Given the description of an element on the screen output the (x, y) to click on. 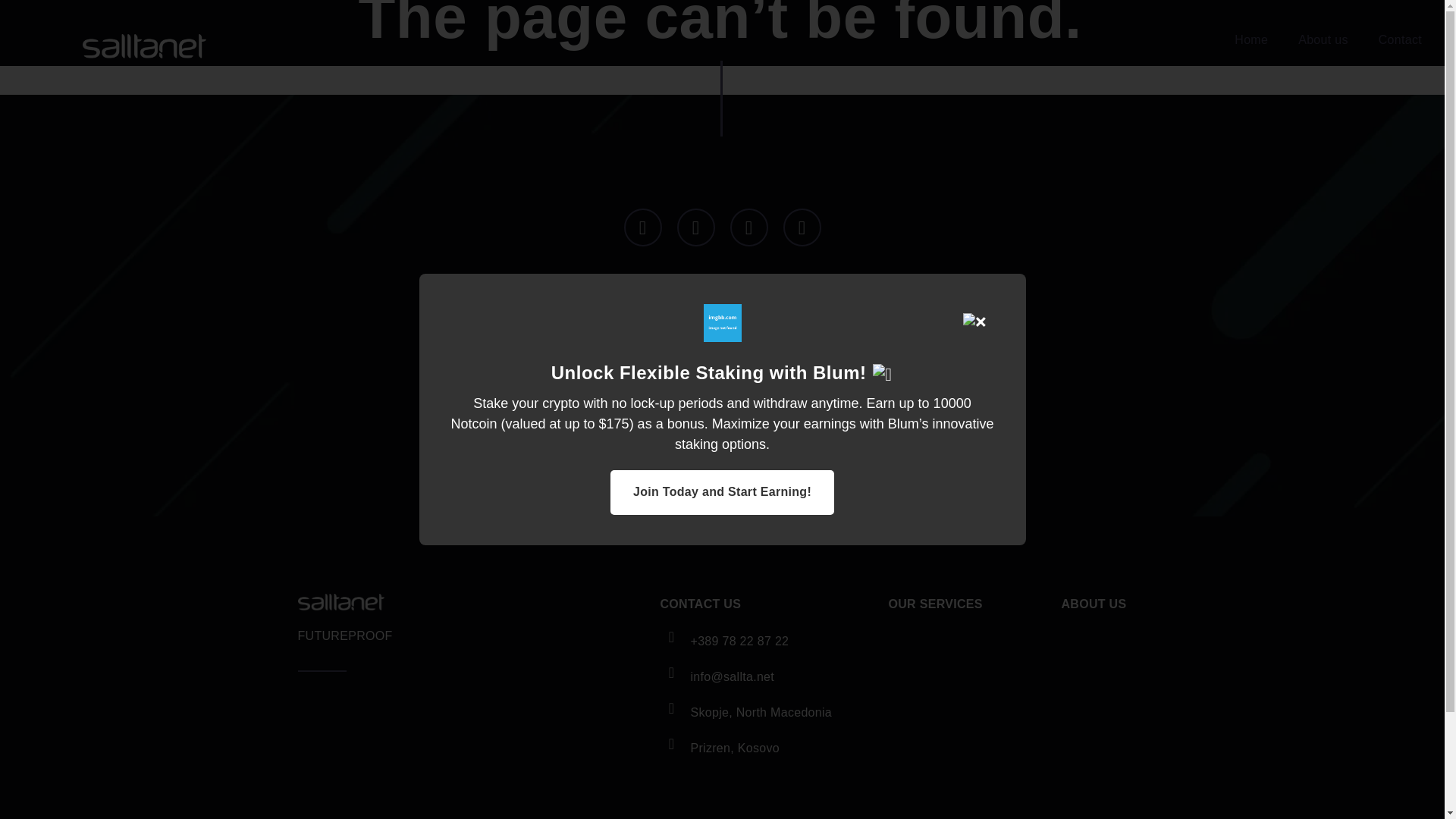
MAKE INQUIRY (722, 424)
Contact (1399, 39)
Home (1251, 39)
Join Today and Start Earning! (722, 492)
About us (1322, 39)
